Given the description of an element on the screen output the (x, y) to click on. 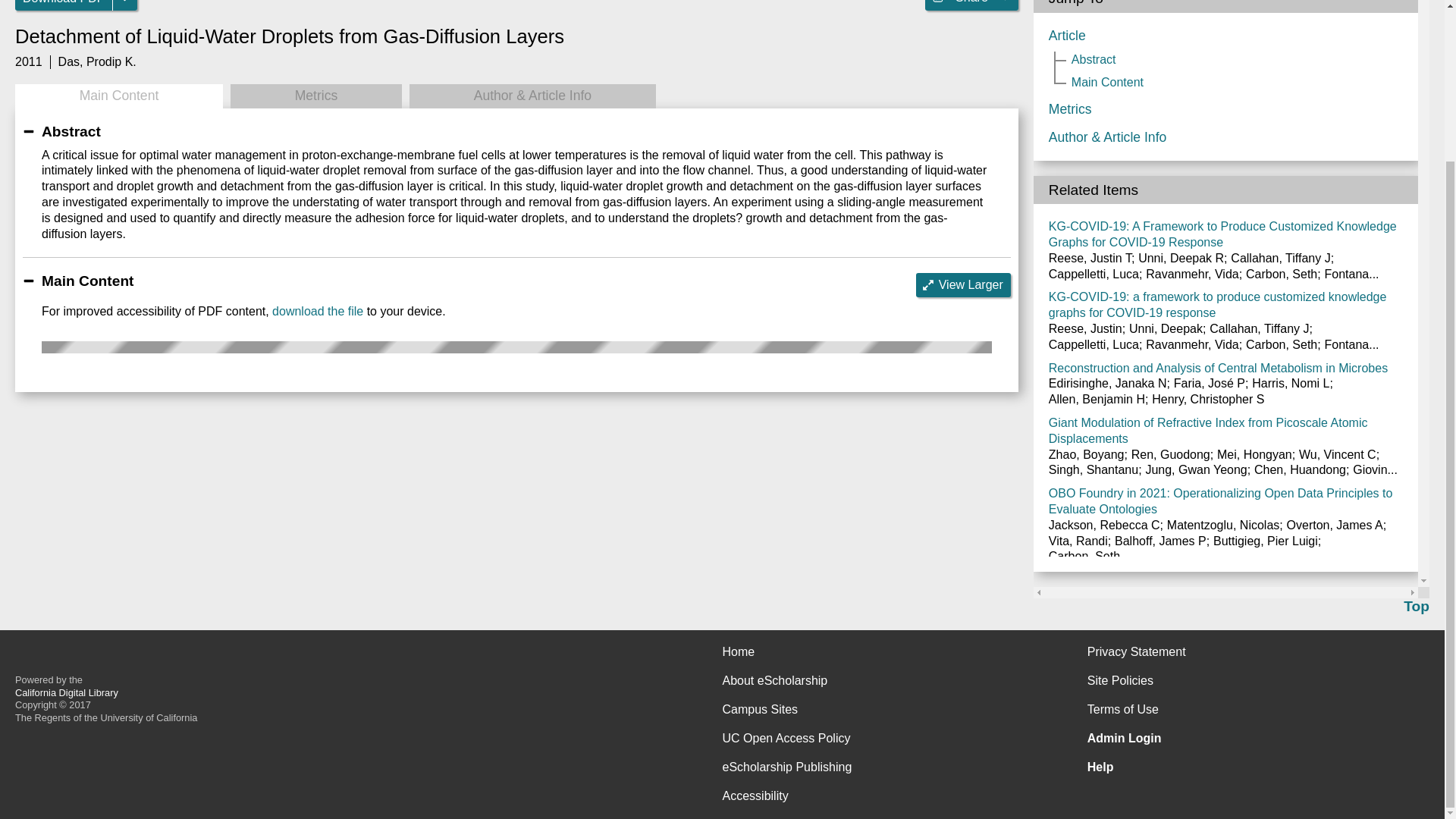
View Larger (962, 284)
Metrics (315, 96)
Download PDF (63, 5)
Main Content (118, 96)
Das, Prodip K. (97, 61)
download the file (317, 310)
